Given the description of an element on the screen output the (x, y) to click on. 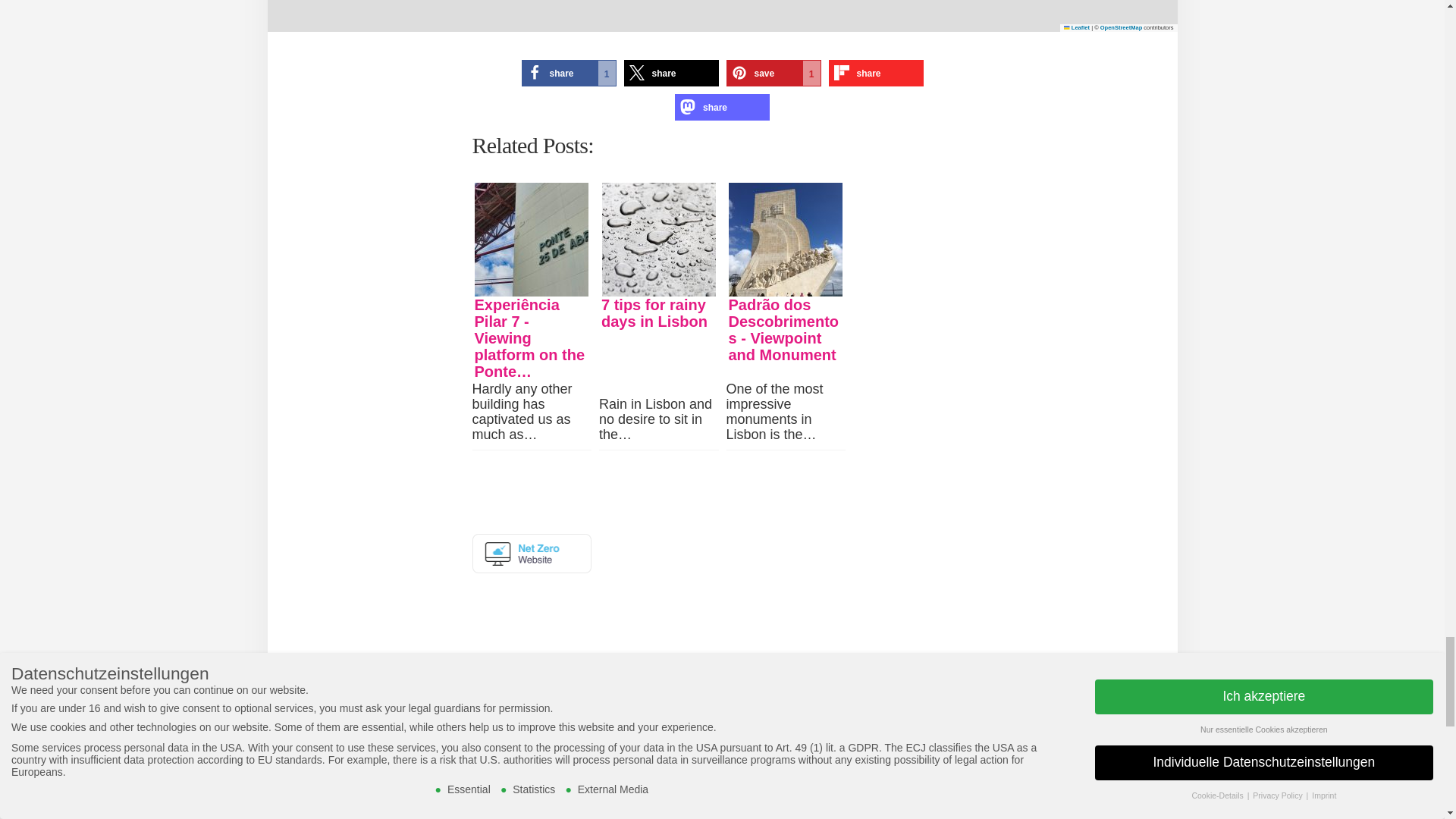
Pin it on Pinterest (773, 72)
Share on Facebook (568, 72)
Share on Flipboard (875, 72)
Share on Mastodon (722, 107)
7 tips for rainy days in Lisbon (659, 239)
A JavaScript library for interactive maps (1076, 27)
Share on X (670, 72)
